Given the description of an element on the screen output the (x, y) to click on. 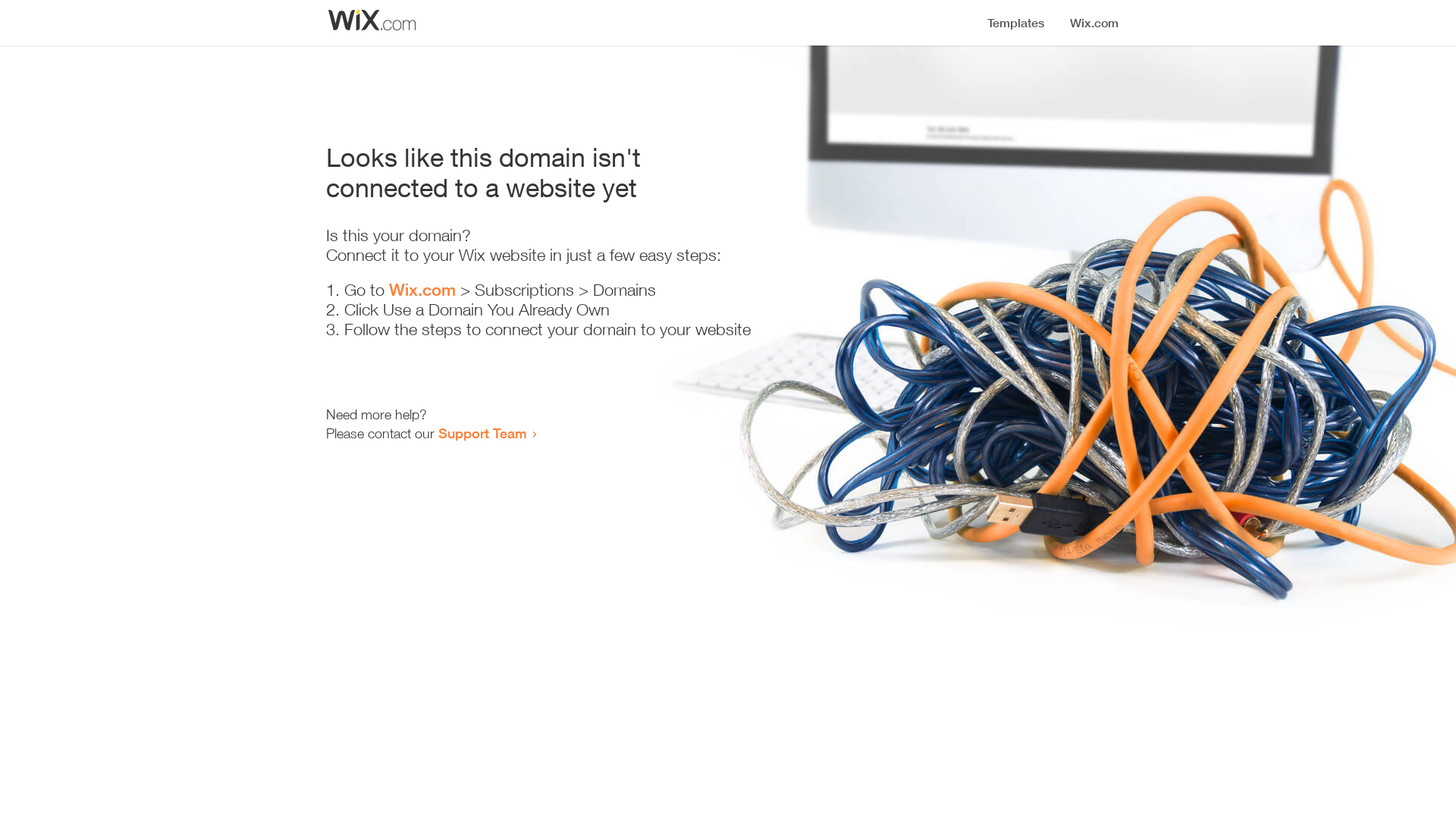
Wix.com Element type: text (422, 289)
Support Team Element type: text (482, 432)
